Given the description of an element on the screen output the (x, y) to click on. 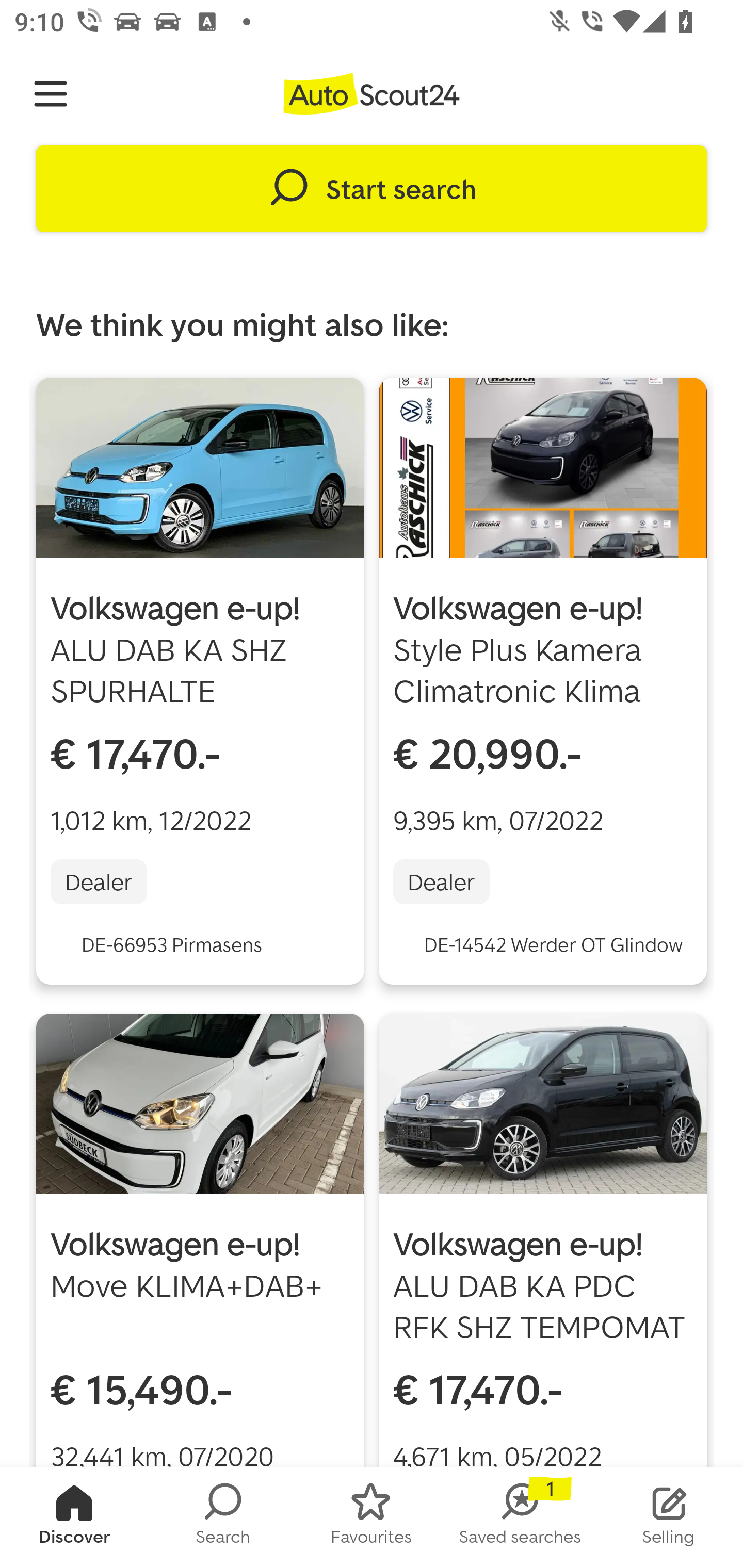
Navigate up (50, 93)
Start search (371, 188)
HOMESCREEN Discover (74, 1517)
SEARCH Search (222, 1517)
FAVORITES Favourites (371, 1517)
SAVED_SEARCHES Saved searches 1 (519, 1517)
STOCK_LIST Selling (668, 1517)
